Given the description of an element on the screen output the (x, y) to click on. 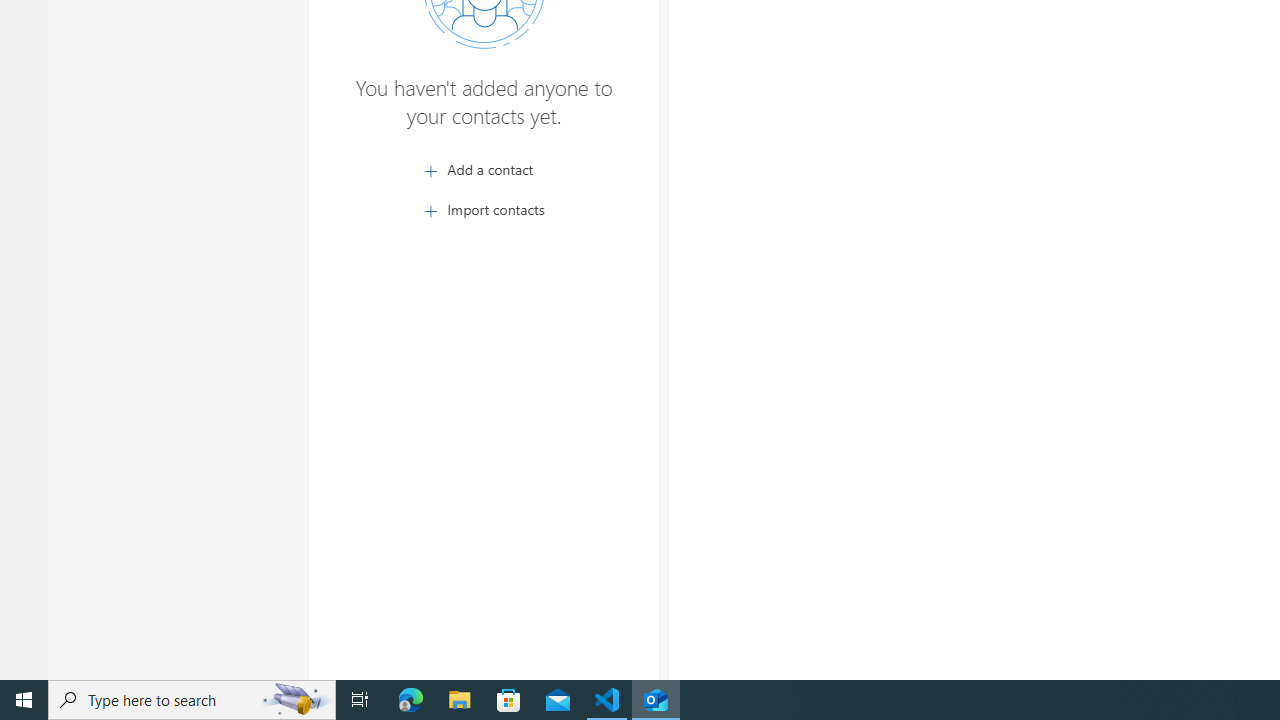
Outlook (new) - 1 running window (656, 699)
Add a contact (483, 169)
Import contacts (483, 209)
